Given the description of an element on the screen output the (x, y) to click on. 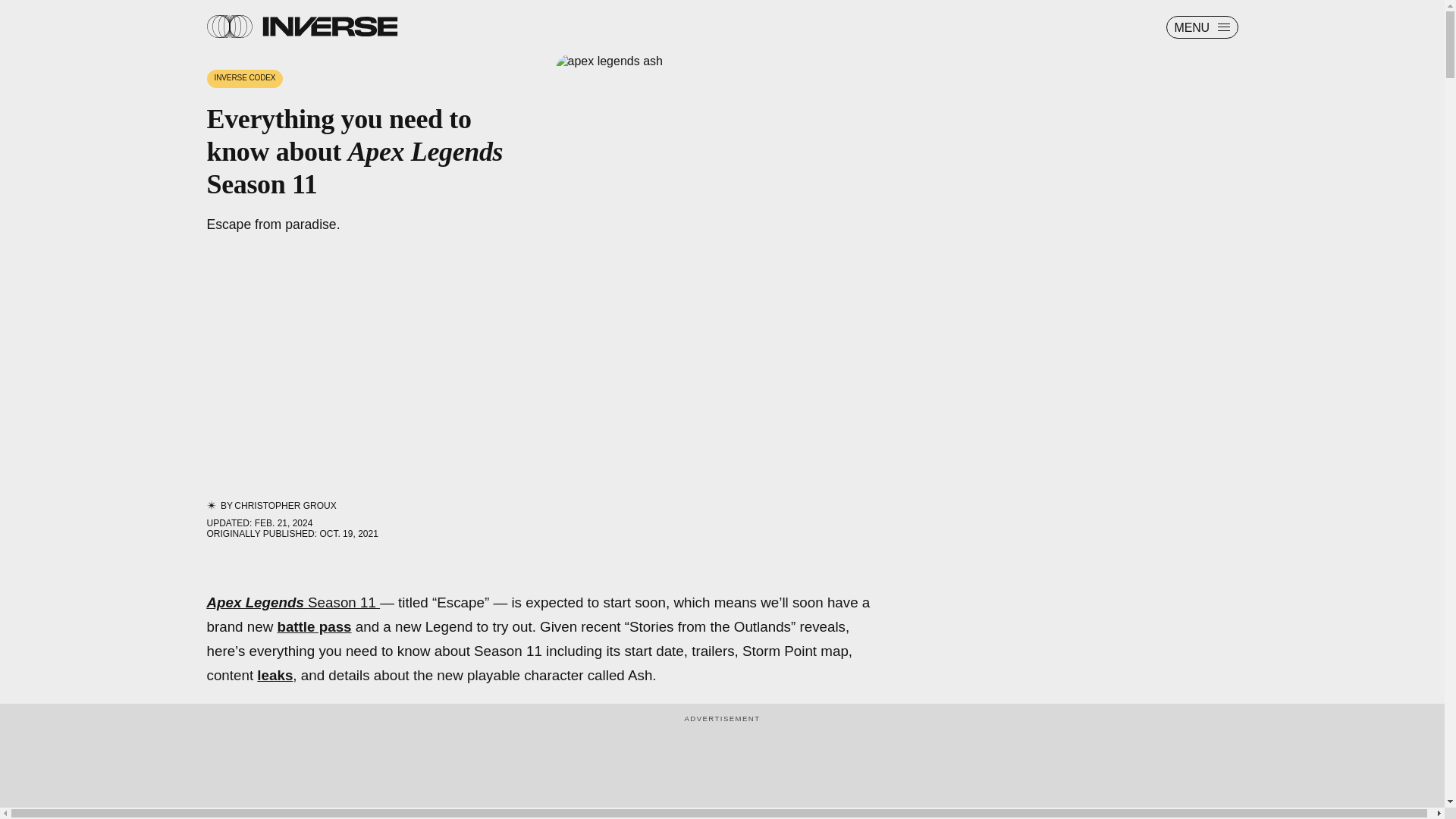
CHRISTOPHER GROUX (285, 505)
Inverse (328, 26)
Apex Legends (254, 602)
leaks (274, 675)
battle pass (313, 626)
